Given the description of an element on the screen output the (x, y) to click on. 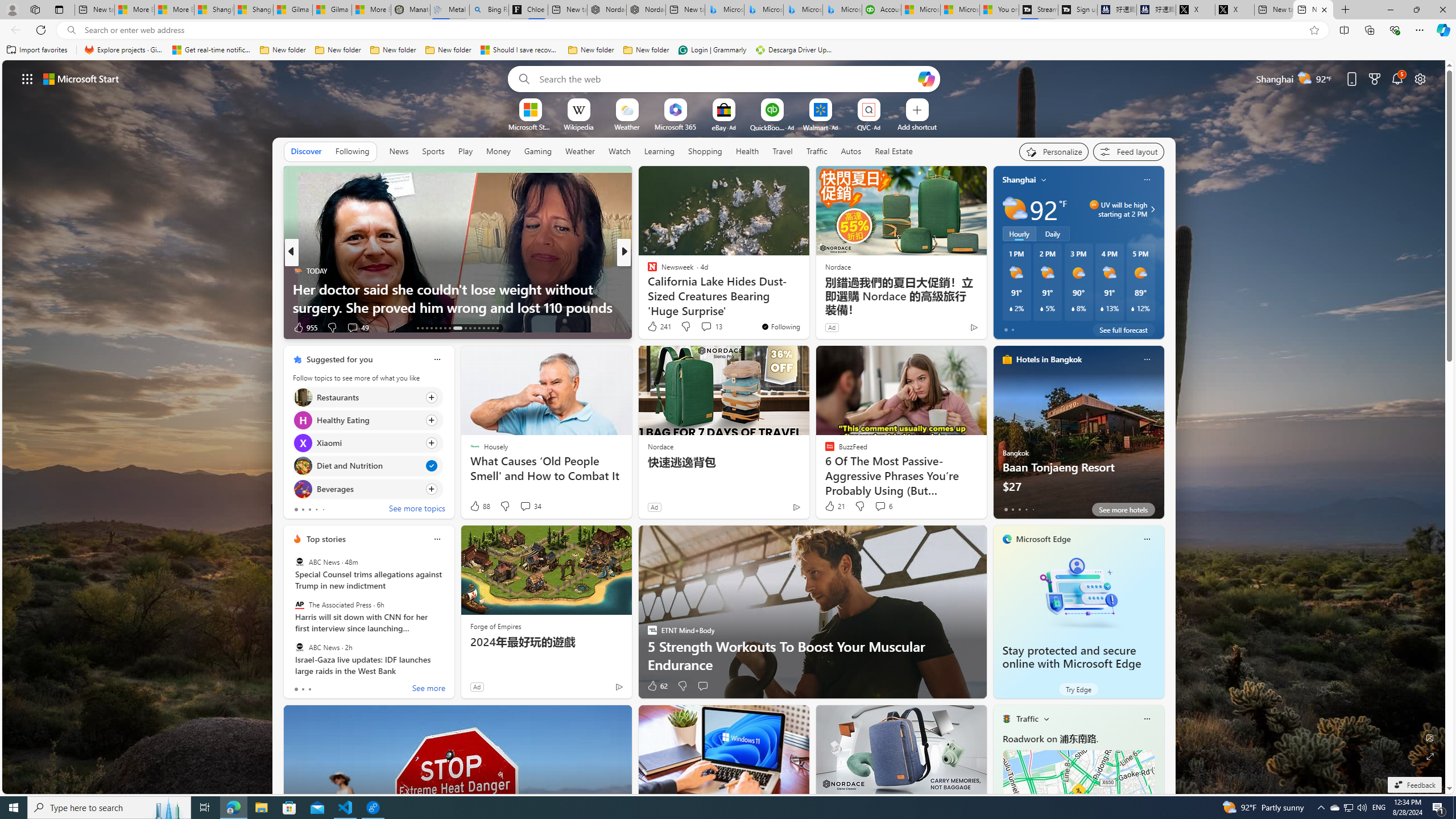
Try Edge (1078, 689)
16 Like (652, 327)
AutomationID: tab-25 (478, 328)
View comments 18 Comment (703, 327)
AutomationID: tab-27 (488, 328)
62 Like (657, 685)
Money (498, 151)
Real Estate (893, 151)
248 Like (654, 327)
AutomationID: tab-13 (417, 328)
TODAY (296, 270)
